Given the description of an element on the screen output the (x, y) to click on. 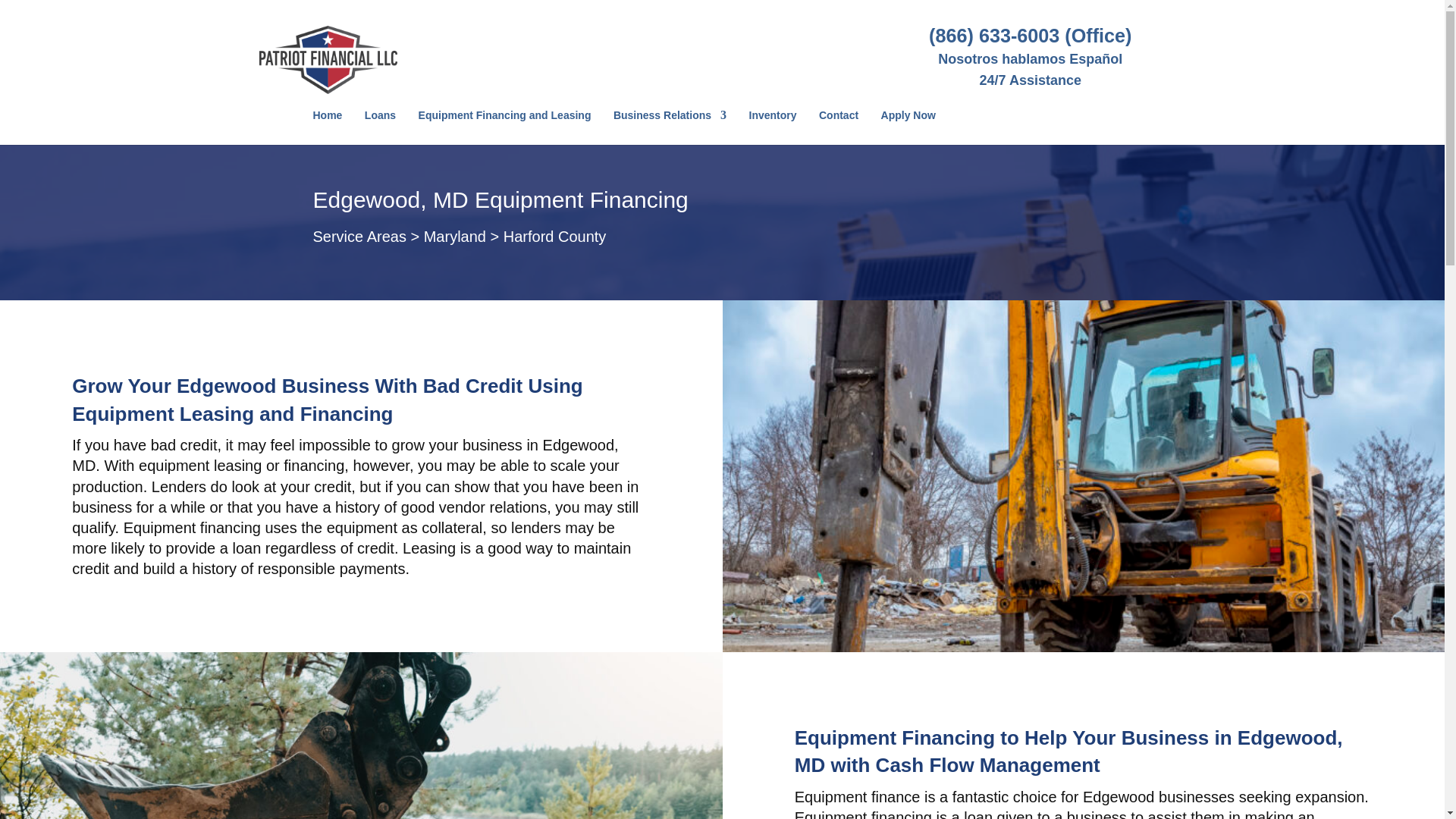
Inventory (772, 126)
Apply Now (908, 126)
Business Relations (669, 126)
Maryland (454, 236)
Service Areas (359, 236)
Loans (380, 126)
Harford County (555, 236)
Contact (838, 126)
Equipment Financing and Leasing (505, 126)
